Given the description of an element on the screen output the (x, y) to click on. 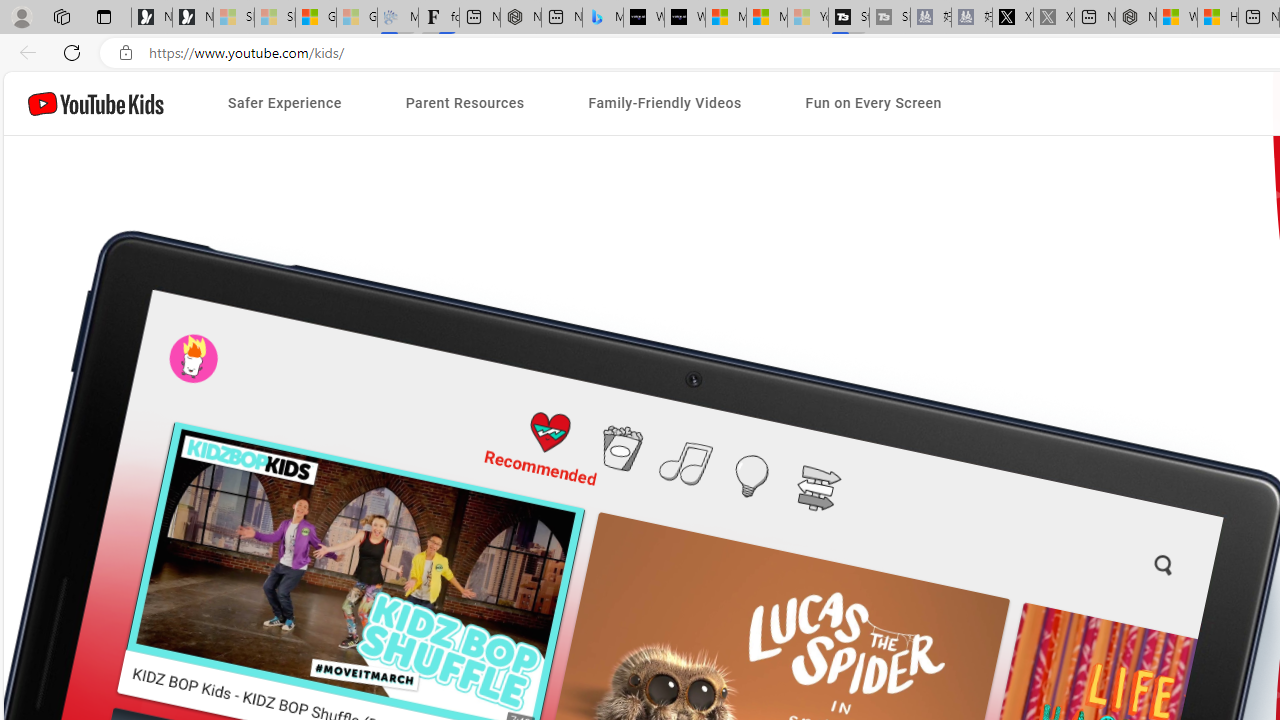
YouTube Kids (95, 102)
Fun on Every Screen (873, 103)
YouTube Kids (95, 102)
Family-Friendly Videos (664, 103)
